Given the description of an element on the screen output the (x, y) to click on. 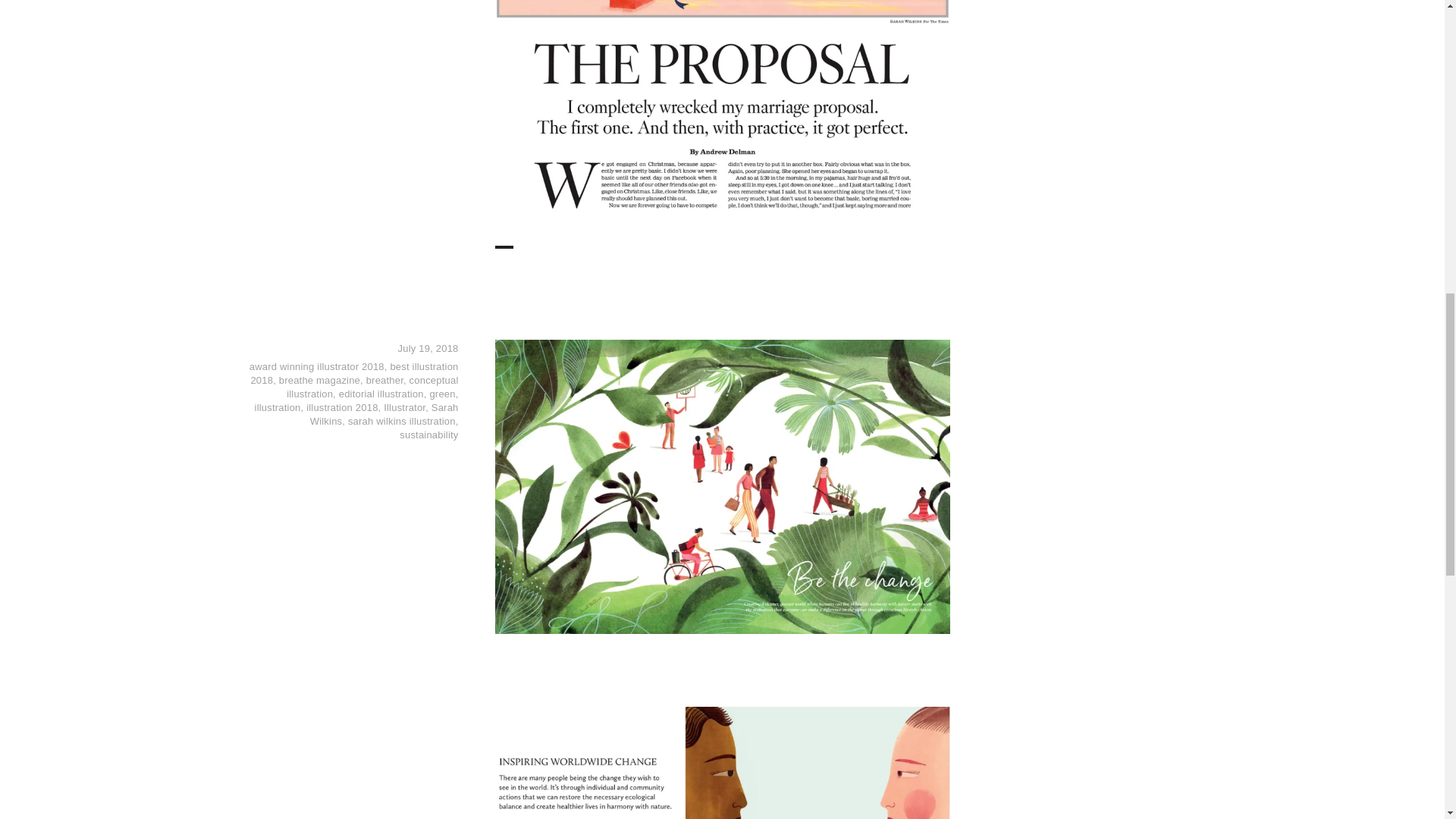
illustration 2018 (341, 407)
editorial illustration (381, 393)
breathe magazine (319, 379)
Sarah Wilkins (384, 414)
Change for the Better (651, 303)
award winning illustrator 2018 (316, 366)
green (441, 393)
best illustration 2018 (354, 373)
conceptual illustration (372, 386)
illustration (277, 407)
breather (384, 379)
Illustrator (404, 407)
July 19, 2018 (427, 348)
